Given the description of an element on the screen output the (x, y) to click on. 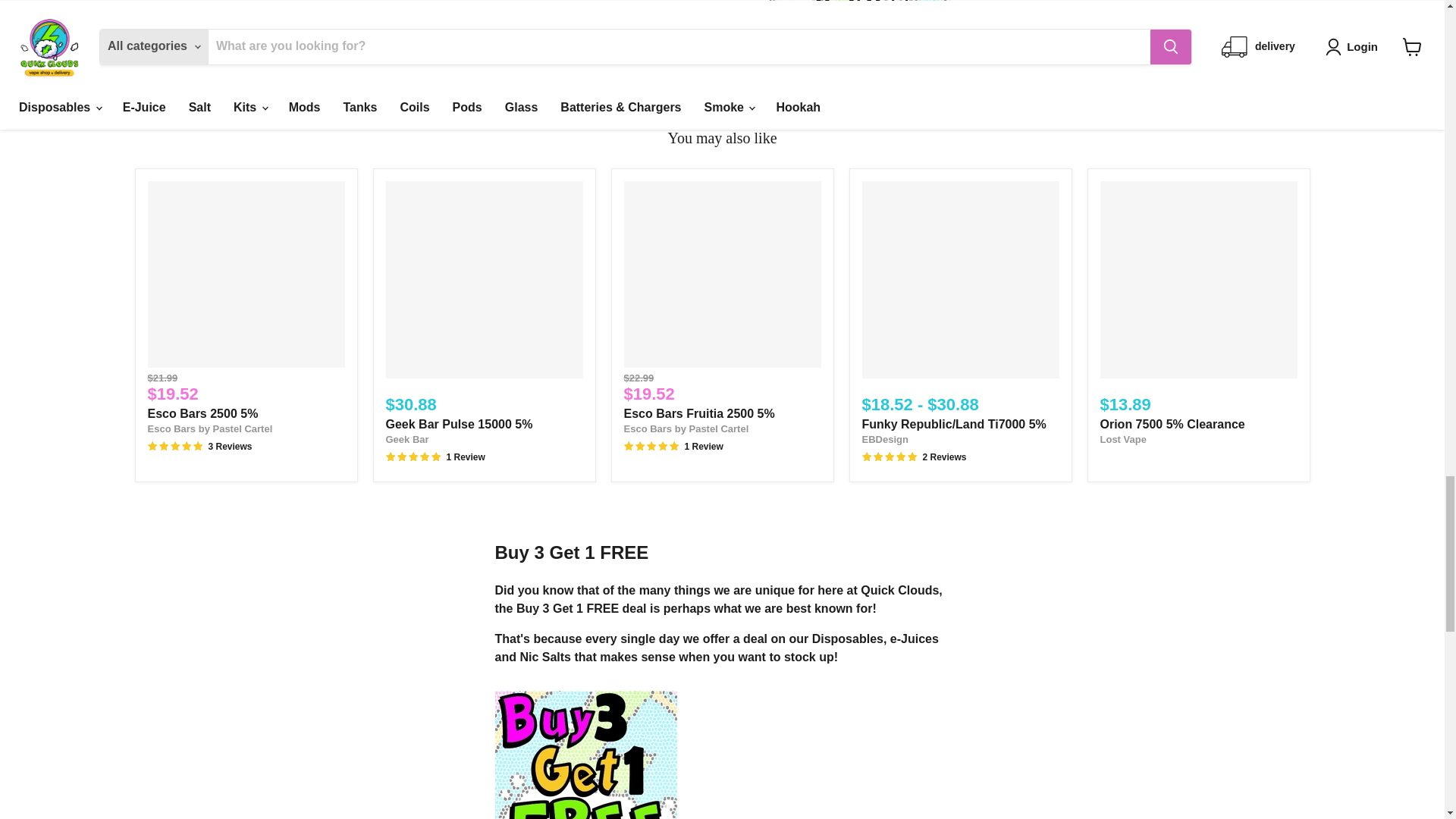
Esco Bars by Pastel Cartel (209, 428)
Lost Vape (1122, 439)
buy 3 get 1 free deal (859, 19)
EBDesign (884, 439)
Esco Bars by Pastel Cartel (685, 428)
disposable deals near me (861, 55)
Geek Bar (406, 439)
